Given the description of an element on the screen output the (x, y) to click on. 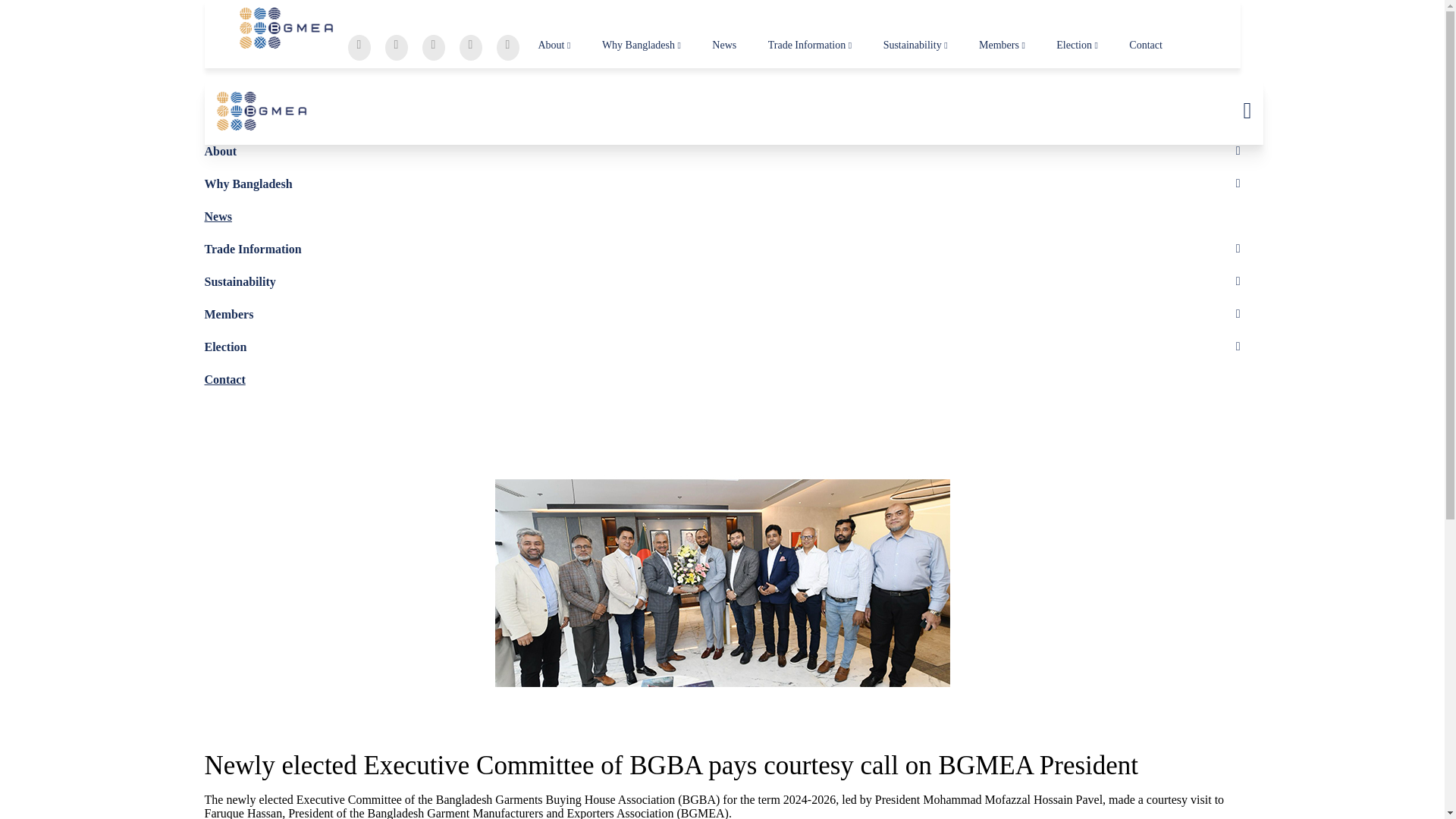
Trade Information (809, 45)
News (723, 45)
About (221, 151)
Why Bangladesh (641, 45)
Sustainability (915, 45)
Members (1001, 45)
About (554, 45)
